Given the description of an element on the screen output the (x, y) to click on. 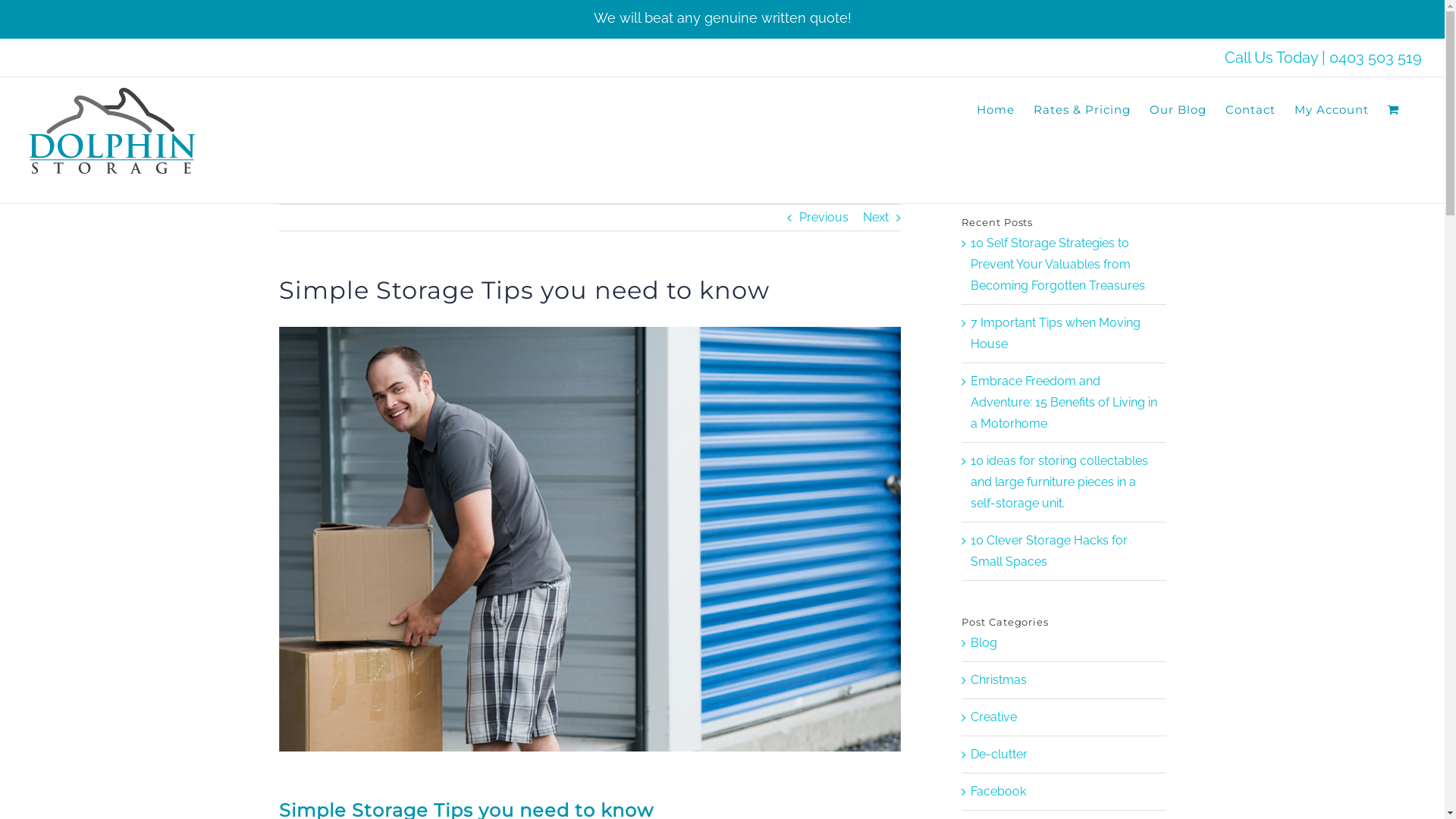
Home Element type: text (995, 109)
Previous Element type: text (823, 217)
Creative Element type: text (1063, 717)
Contact Element type: text (1250, 109)
Rates & Pricing Element type: text (1081, 109)
Blog Element type: text (1063, 642)
Facebook Element type: text (1063, 791)
10 Clever Storage Hacks for Small Spaces Element type: text (1048, 550)
Next Element type: text (875, 217)
Christmas Element type: text (1063, 679)
Our Blog Element type: text (1177, 109)
View Larger Image Element type: text (590, 538)
7 Important Tips when Moving House Element type: text (1055, 333)
De-clutter Element type: text (1063, 754)
My Account Element type: text (1331, 109)
